Given the description of an element on the screen output the (x, y) to click on. 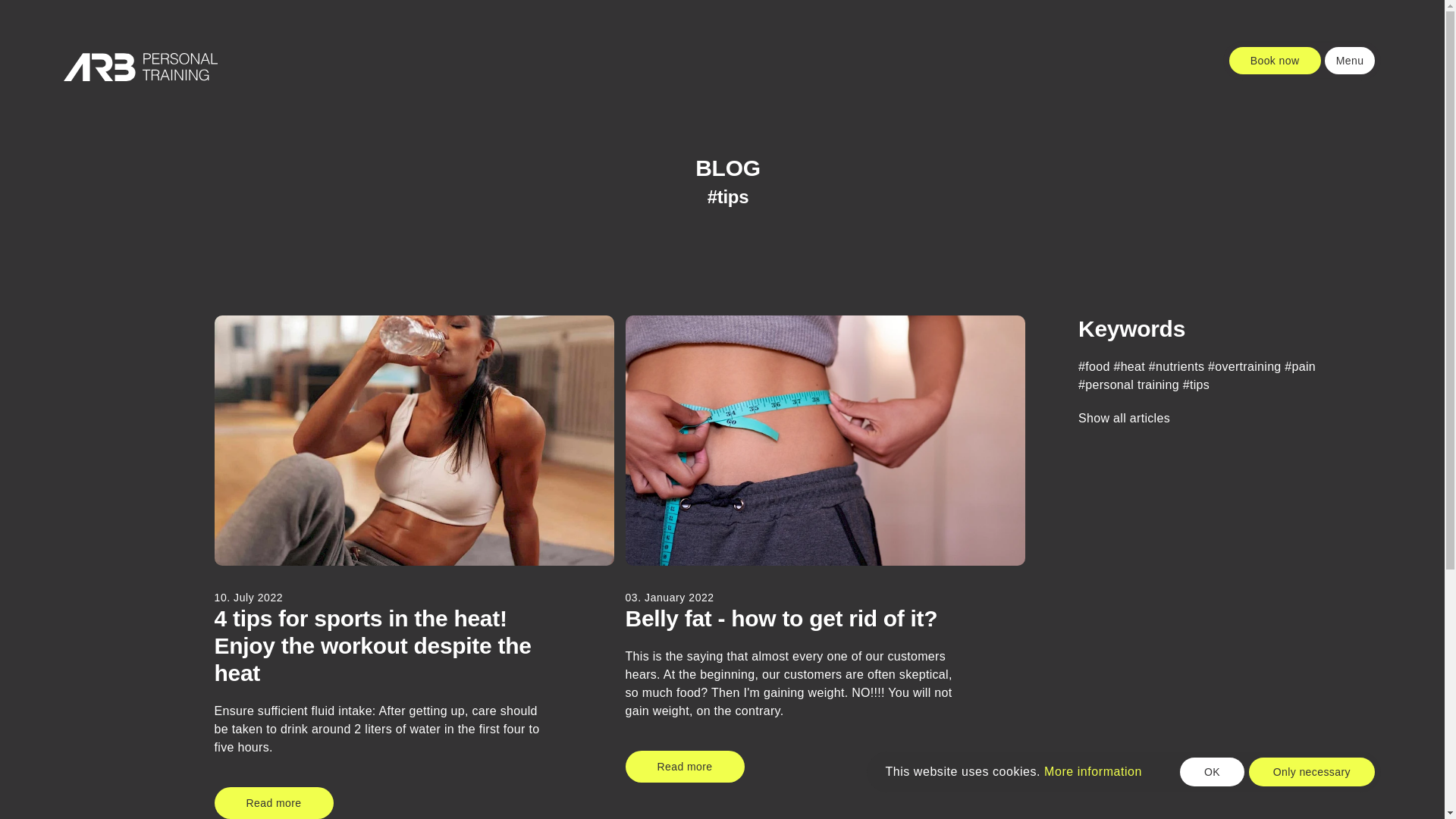
pain (1300, 366)
Book now (1274, 60)
Show all articles (1124, 418)
nutrients (1176, 366)
More information (1092, 771)
OK (1211, 771)
food (1093, 366)
personal training (1128, 384)
Read more (685, 766)
Read more (273, 803)
overtraining (1244, 366)
Only necessary (1311, 771)
heat (1128, 366)
tips (1195, 384)
